Given the description of an element on the screen output the (x, y) to click on. 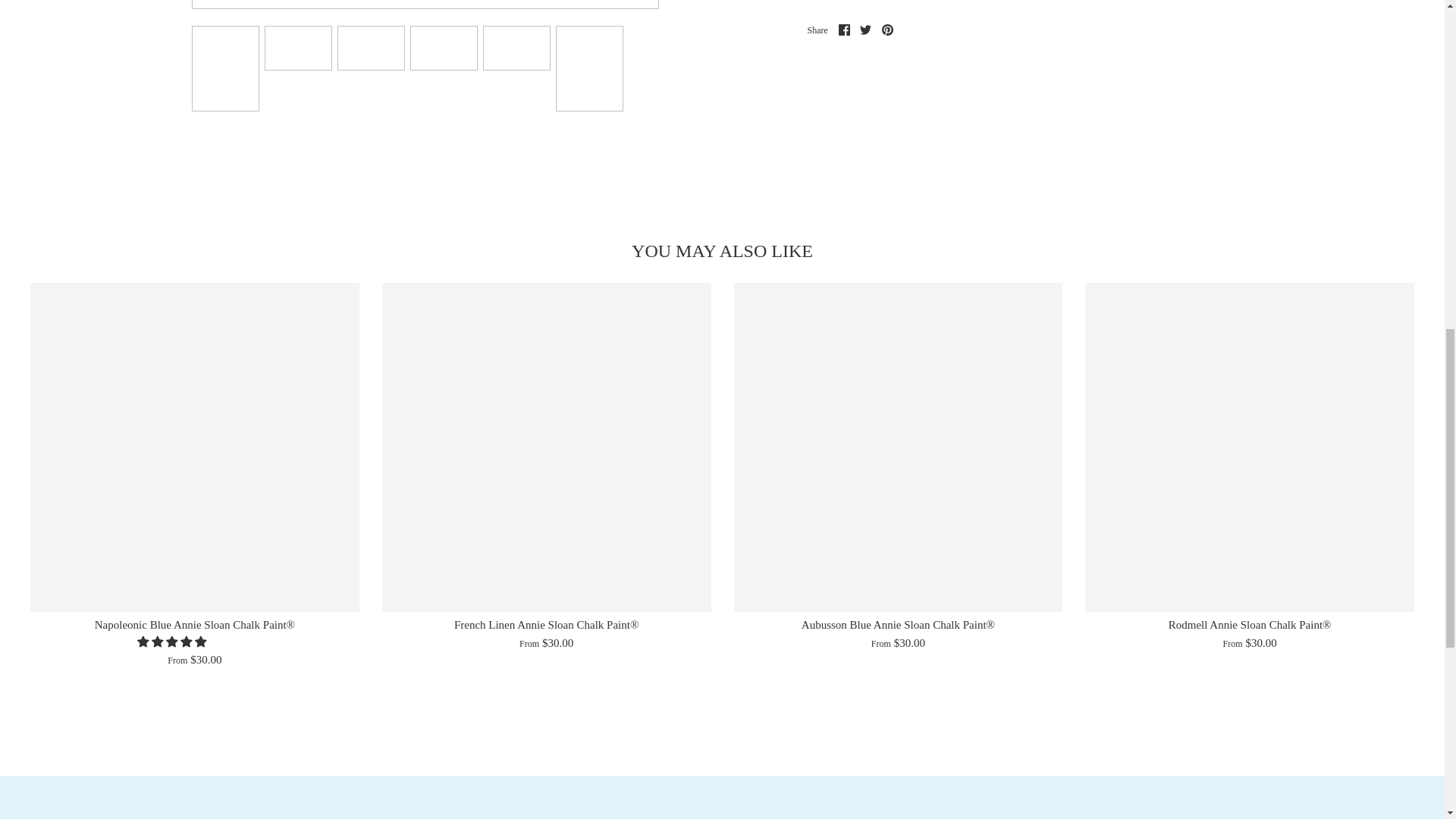
Twitter (865, 30)
Facebook (844, 30)
